Given the description of an element on the screen output the (x, y) to click on. 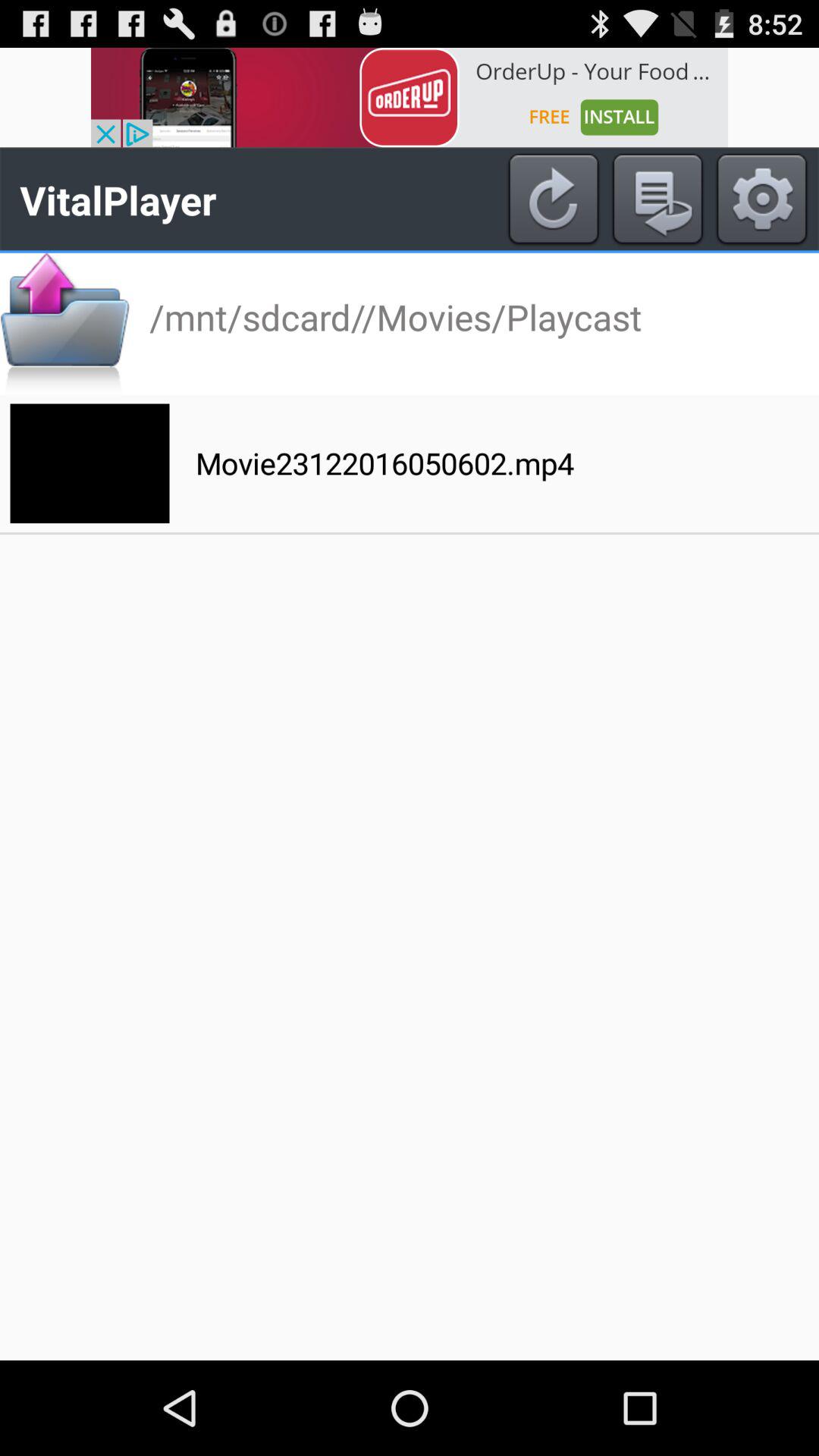
settings (761, 199)
